Given the description of an element on the screen output the (x, y) to click on. 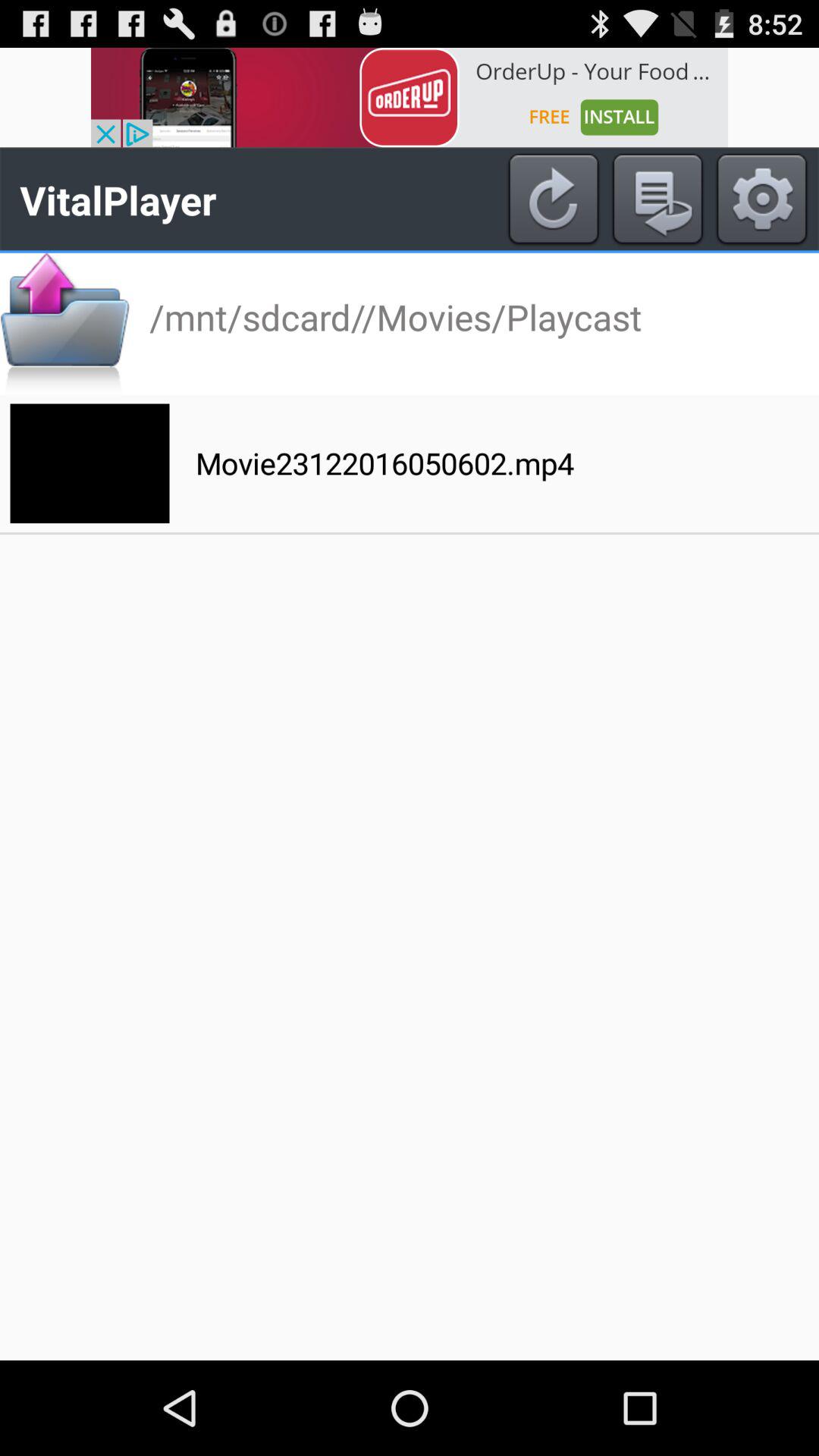
settings (761, 199)
